Given the description of an element on the screen output the (x, y) to click on. 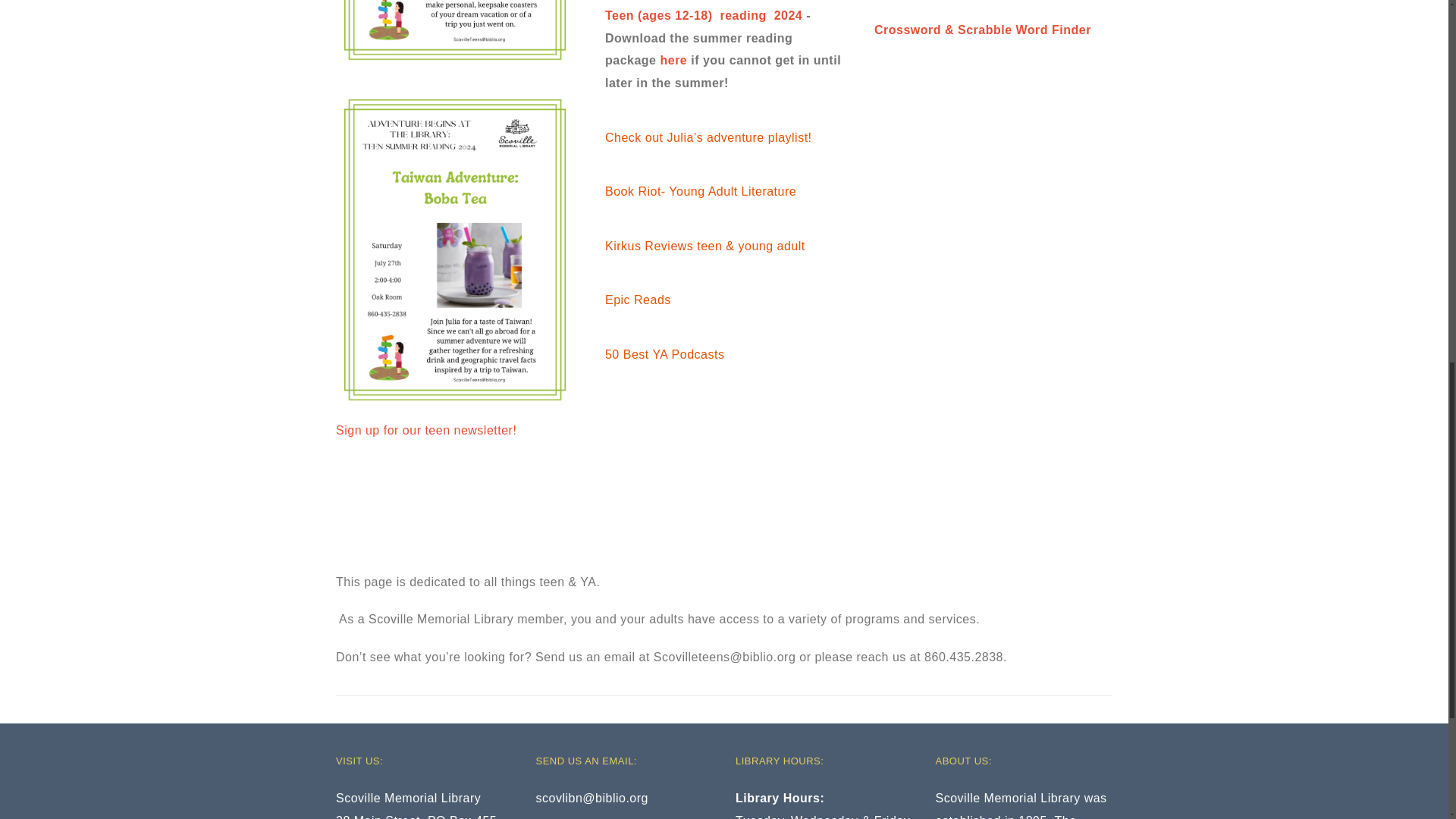
here (673, 60)
Epic Reads (638, 299)
Sign up for our teen newsletter! (426, 430)
Book Riot- Young Adult Literature (700, 191)
